Given the description of an element on the screen output the (x, y) to click on. 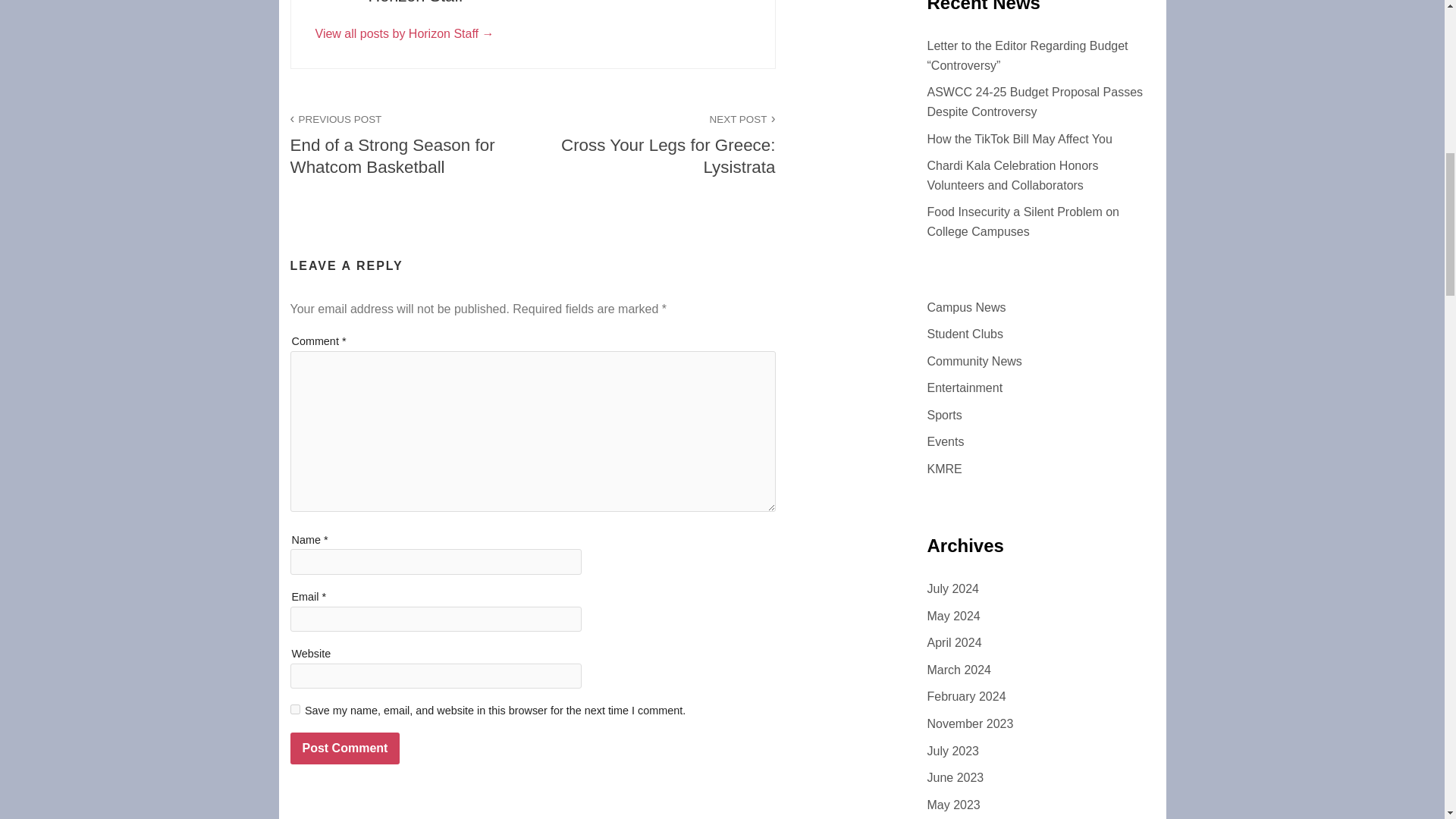
Post Comment (653, 144)
April 2024 (343, 748)
Food Insecurity a Silent Problem on College Campuses (953, 642)
View all posts by Horizon Staff (410, 144)
Community News (1022, 221)
Events (405, 33)
Sports (974, 360)
ASWCC 24-25 Budget Proposal Passes Despite Controversy (944, 440)
July 2024 (943, 414)
Student Clubs (1034, 101)
yes (952, 588)
How the TikTok Bill May Affect You (964, 333)
May 2024 (294, 709)
